Given the description of an element on the screen output the (x, y) to click on. 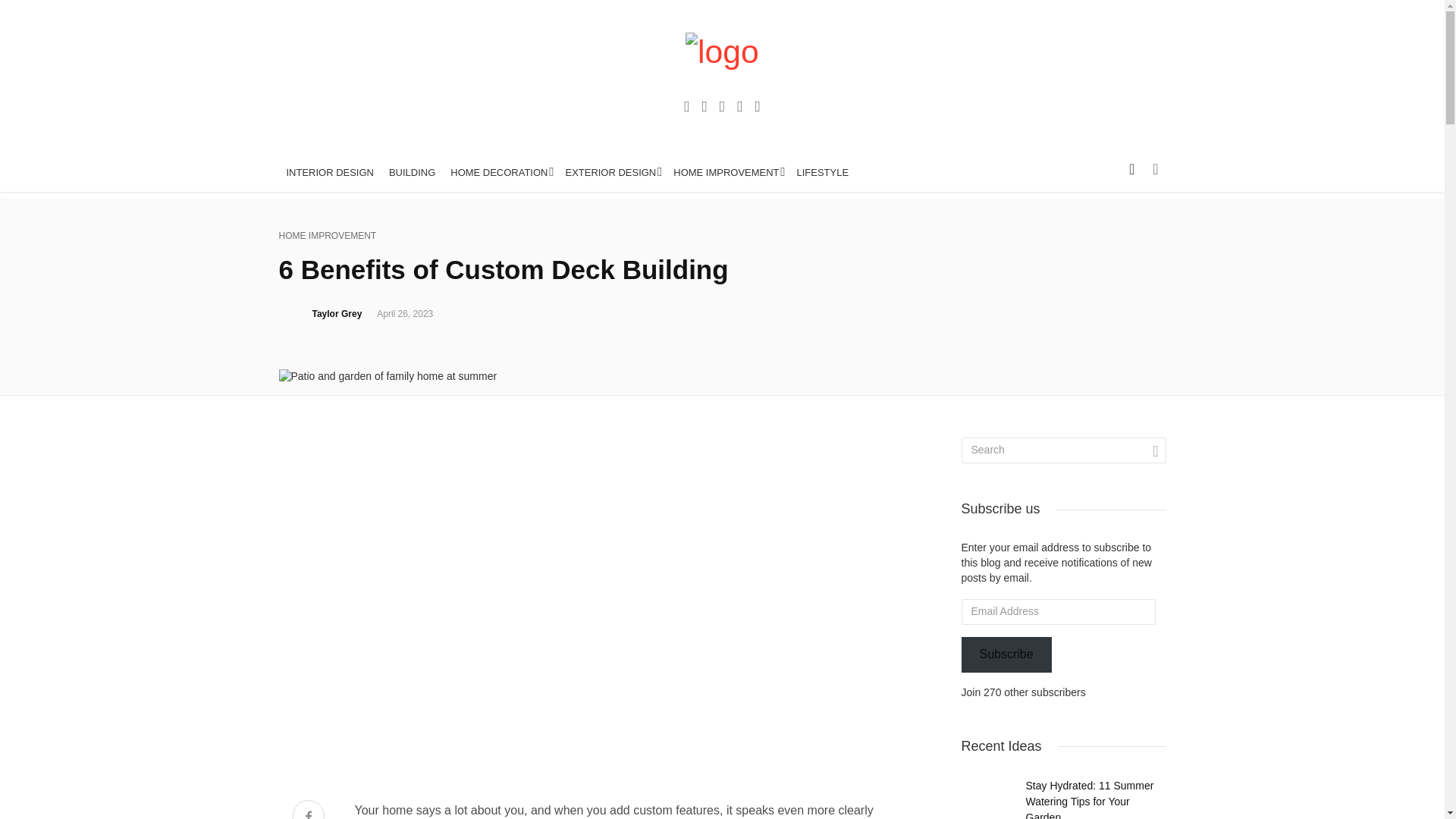
LIFESTYLE (823, 320)
Taylor Grey (337, 680)
EXTERIOR DESIGN (611, 320)
HOME DECORATION (499, 320)
BUILDING (411, 320)
April 26, 2023 at 8:50 pm (404, 680)
HOME IMPROVEMENT (328, 603)
HOME IMPROVEMENT (727, 320)
INTERIOR DESIGN (330, 320)
